Given the description of an element on the screen output the (x, y) to click on. 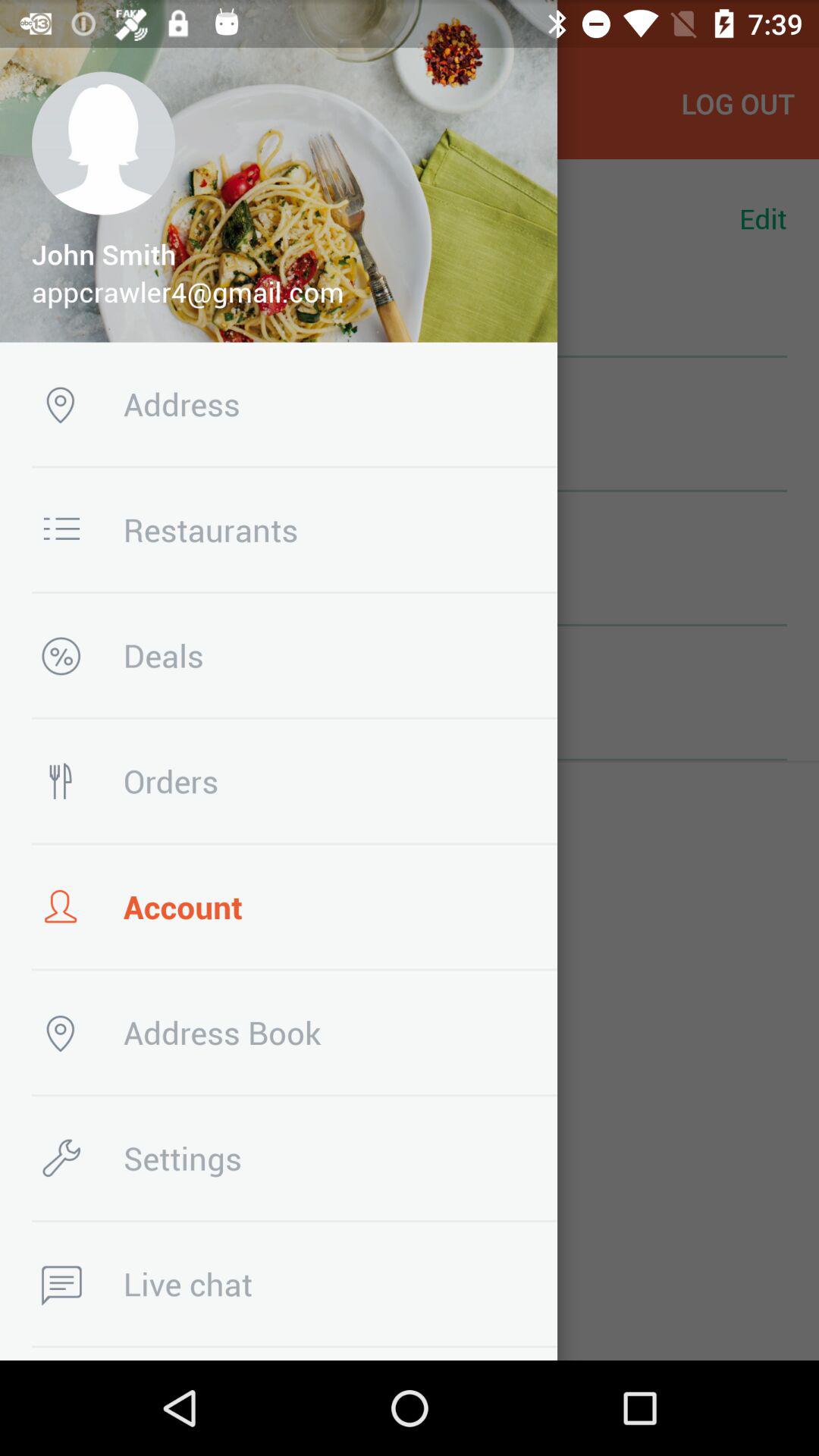
click on the option which is above john smith (103, 143)
select the row above the restaurants (409, 433)
